Given the description of an element on the screen output the (x, y) to click on. 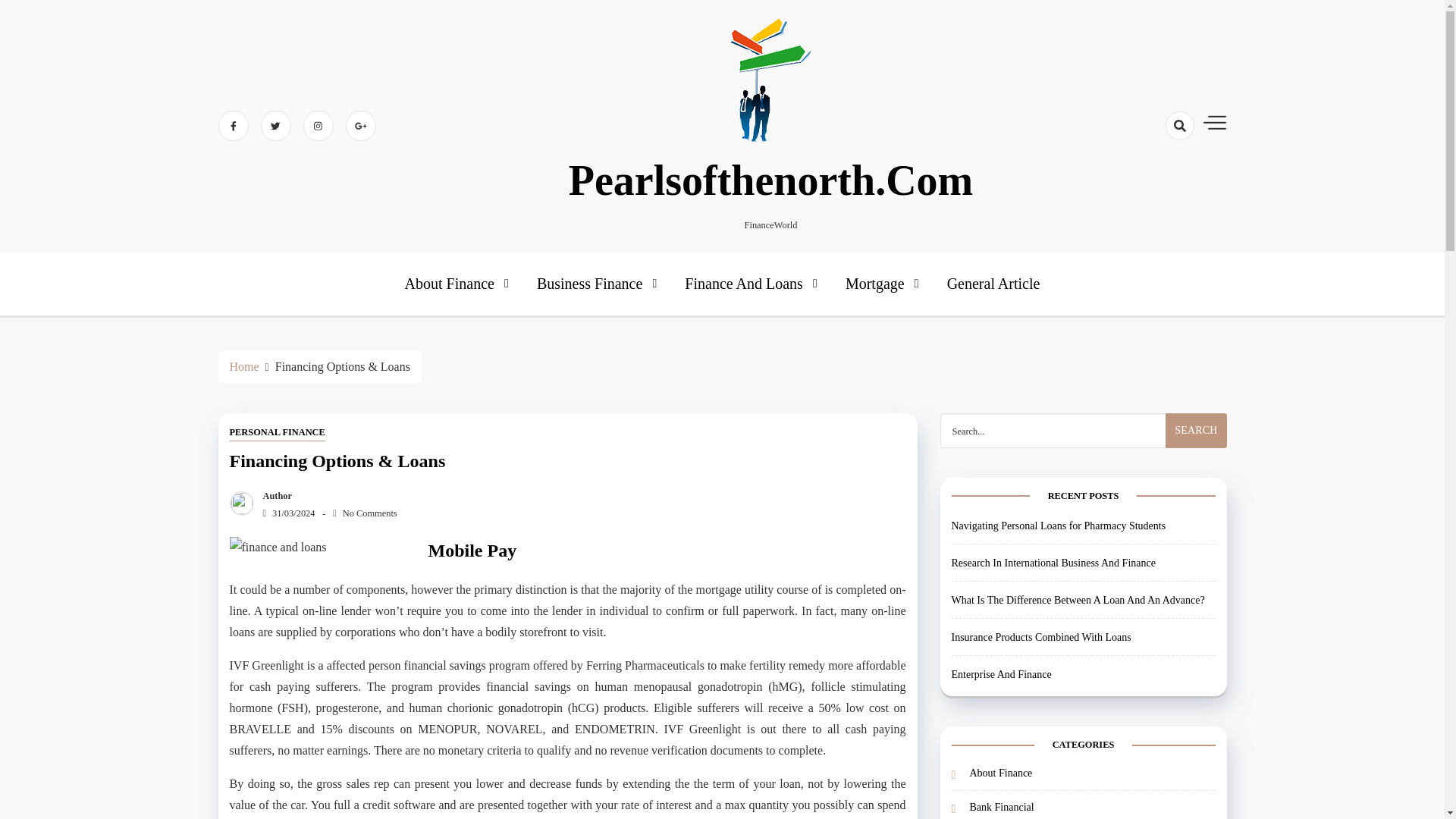
Search (1195, 430)
Mortgage (884, 283)
About Finance (458, 283)
Search (1152, 179)
Search (1195, 430)
Business Finance (599, 283)
Pearlsofthenorth.Com (770, 180)
Finance And Loans (752, 283)
